Given the description of an element on the screen output the (x, y) to click on. 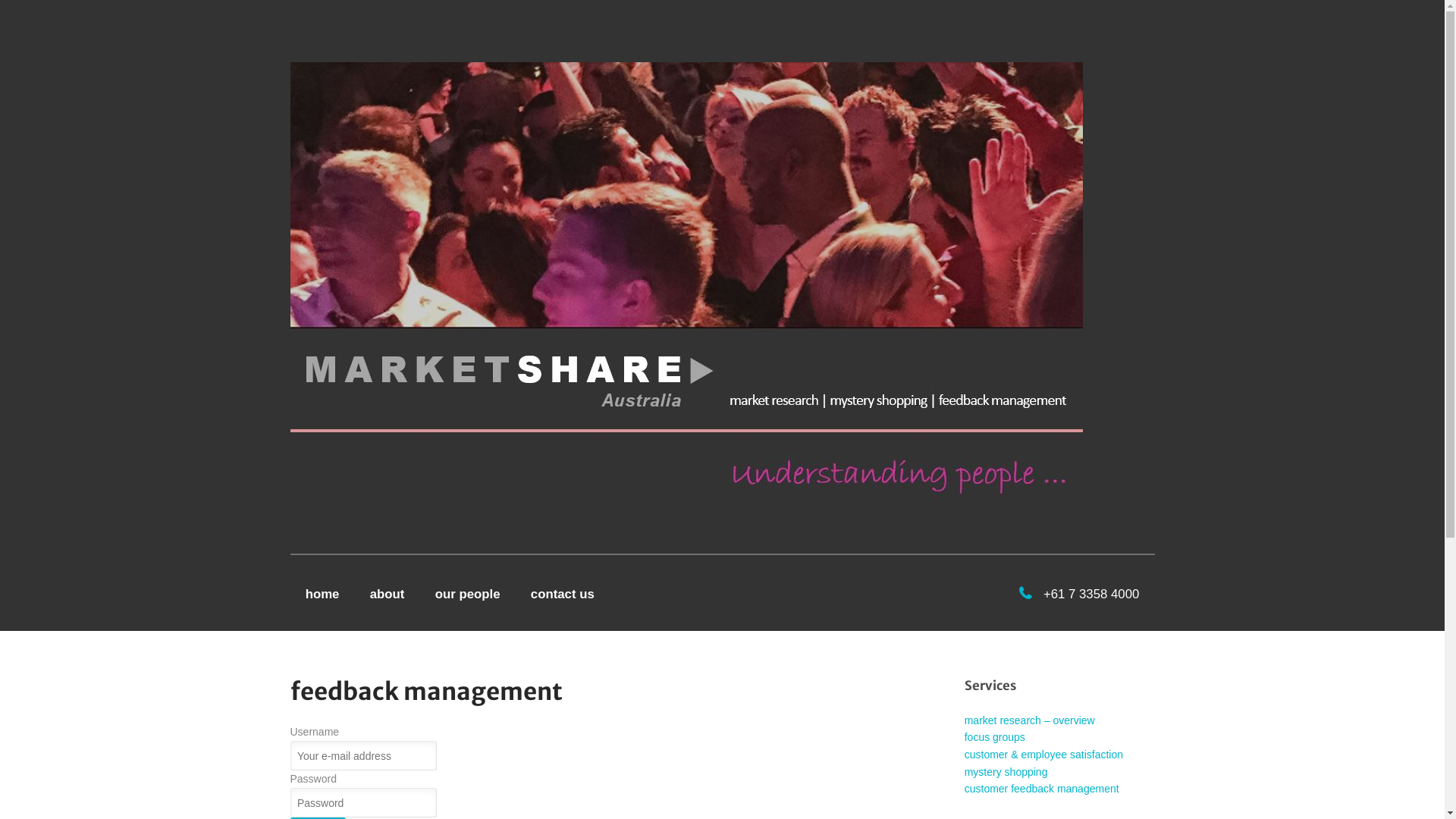
our people Element type: text (467, 591)
Customer Satisfaction Resources for the 21st Century. Element type: hover (685, 279)
about Element type: text (387, 591)
customer & employee satisfaction Element type: text (1043, 754)
home Element type: text (321, 591)
mystery shopping Element type: text (1006, 771)
contact us Element type: text (562, 591)
focus groups Element type: text (994, 737)
customer feedback management Element type: text (1041, 788)
